Given the description of an element on the screen output the (x, y) to click on. 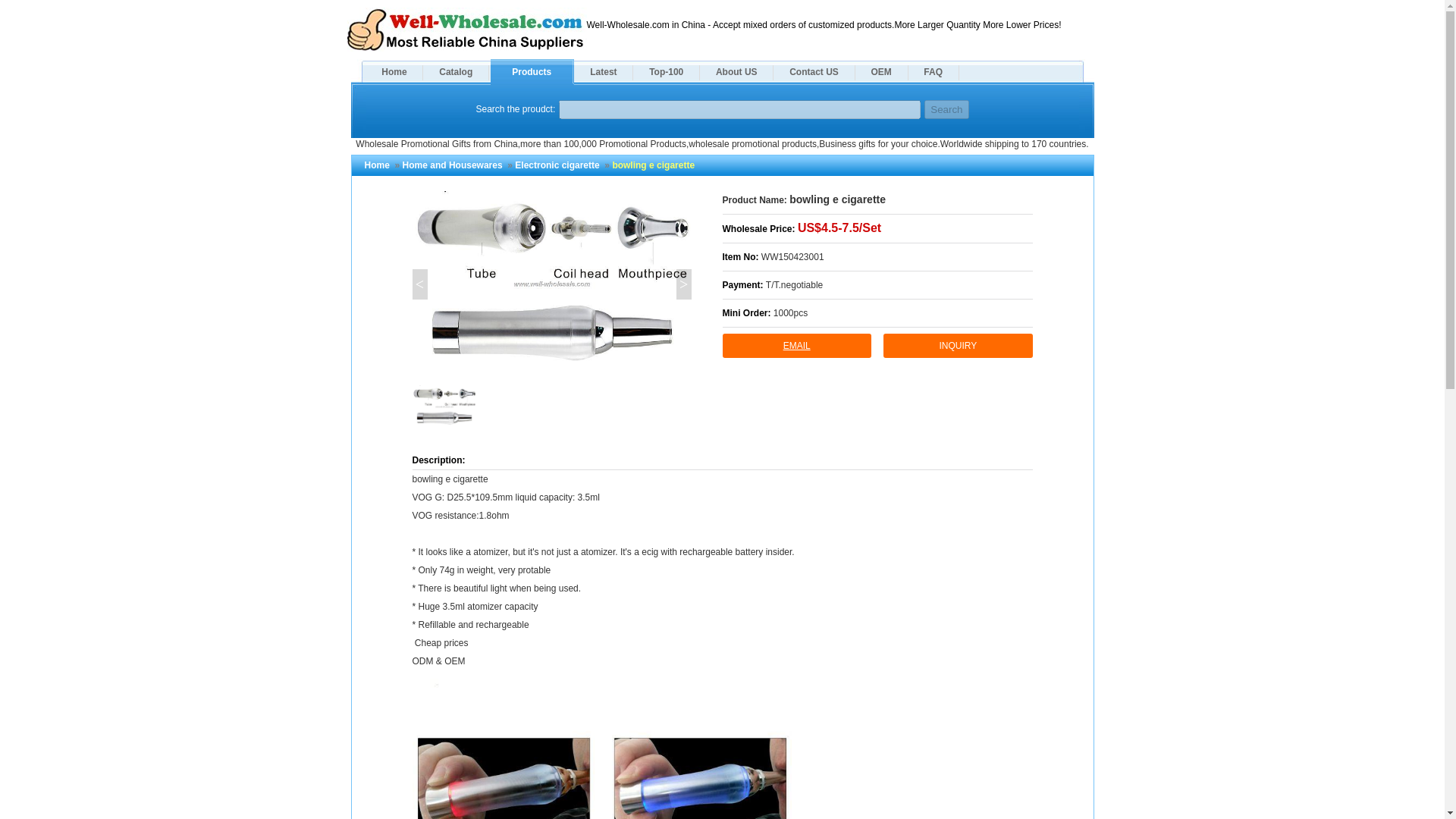
OEM (881, 71)
Latest (602, 71)
EMAIL (796, 345)
Top-100 (665, 71)
Products (531, 71)
Contact US (812, 71)
About US (736, 71)
Search (946, 108)
Catalog (455, 71)
Home and Housewares (452, 164)
Search (946, 108)
Home (393, 71)
INQUIRY (957, 345)
Electronic cigarette (556, 164)
FAQ (933, 71)
